Given the description of an element on the screen output the (x, y) to click on. 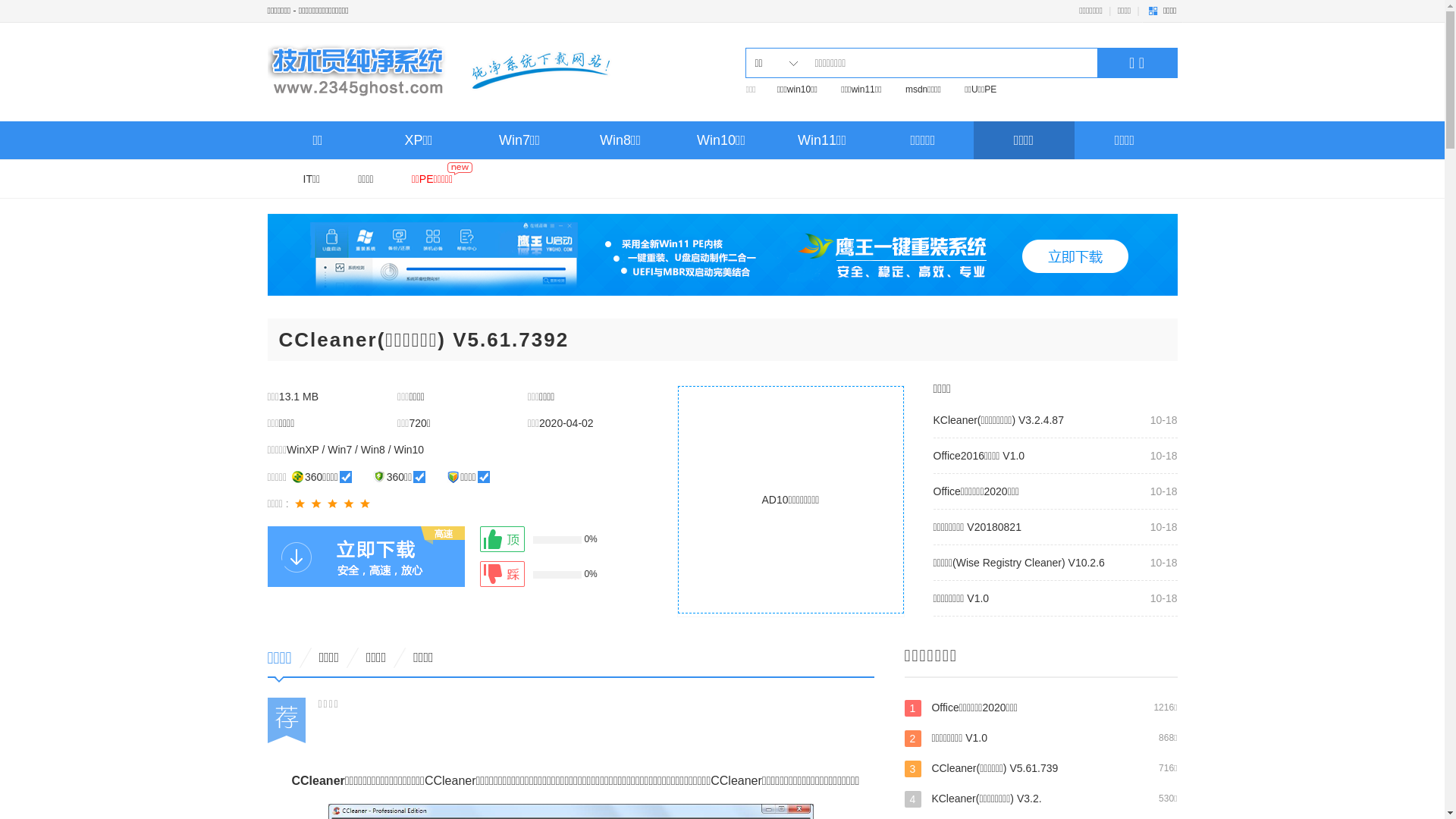
0% Element type: text (551, 539)
0% Element type: text (551, 573)
